Given the description of an element on the screen output the (x, y) to click on. 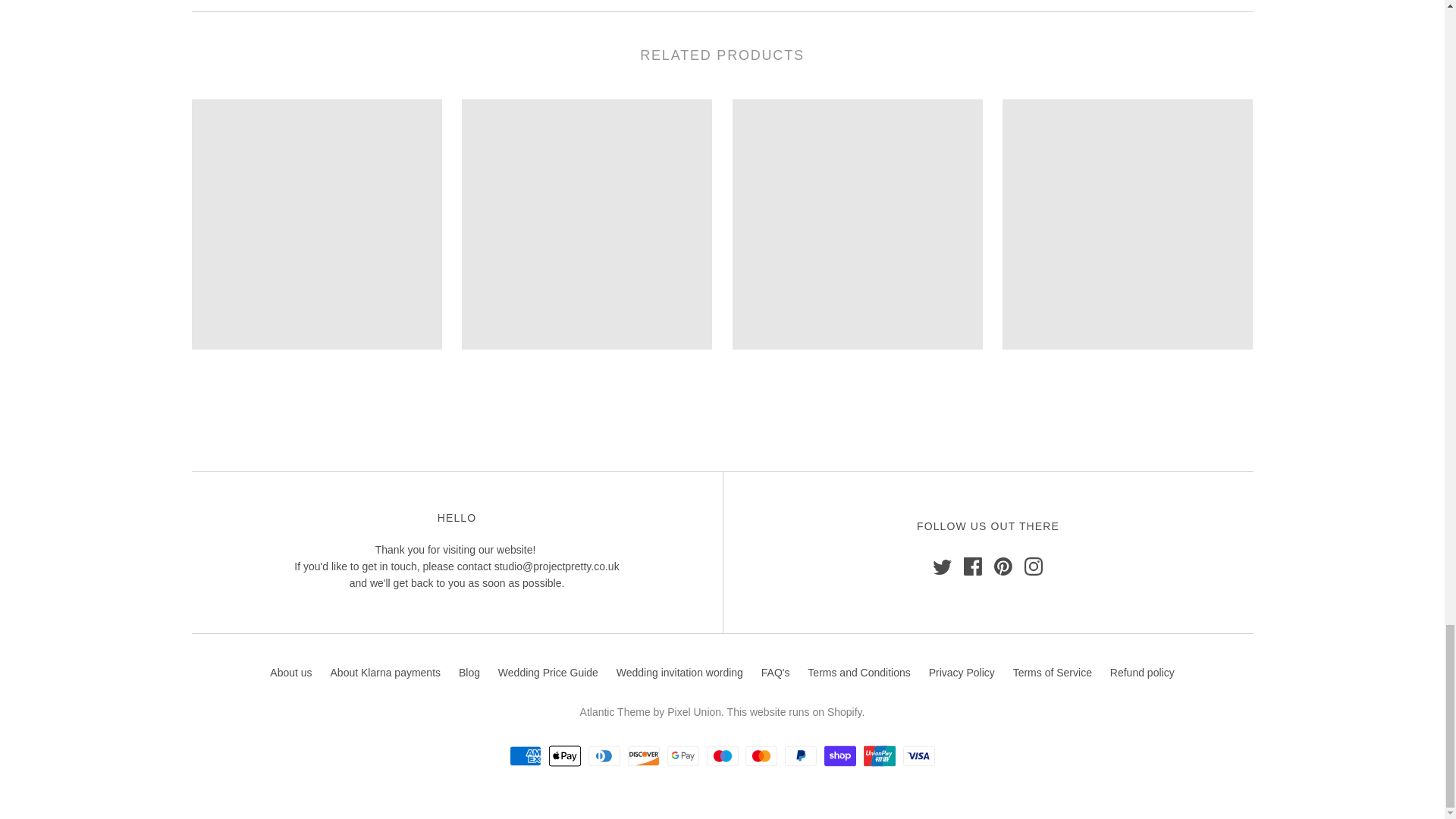
Apple Pay (564, 755)
Pinterest Icon (1002, 566)
Instagram Icon (1033, 566)
Facebook Icon (972, 566)
American Express (525, 755)
Twitter Icon (942, 566)
